Given the description of an element on the screen output the (x, y) to click on. 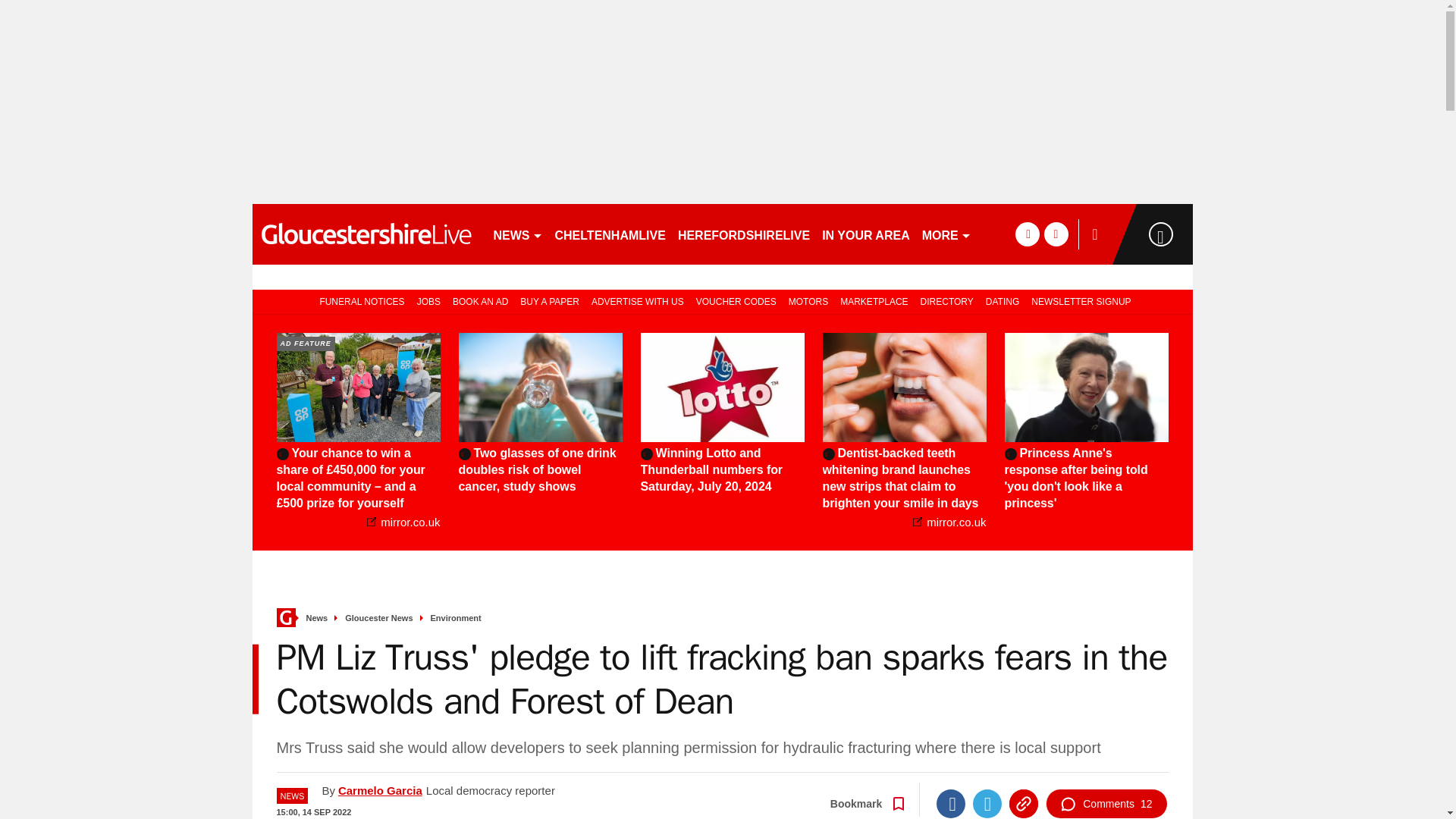
CHELTENHAMLIVE (609, 233)
gloucestershirelive (365, 233)
IN YOUR AREA (865, 233)
facebook (1026, 233)
NEWS (517, 233)
MORE (945, 233)
twitter (1055, 233)
Comments (1105, 803)
Facebook (950, 803)
HEREFORDSHIRELIVE (743, 233)
Twitter (986, 803)
